Given the description of an element on the screen output the (x, y) to click on. 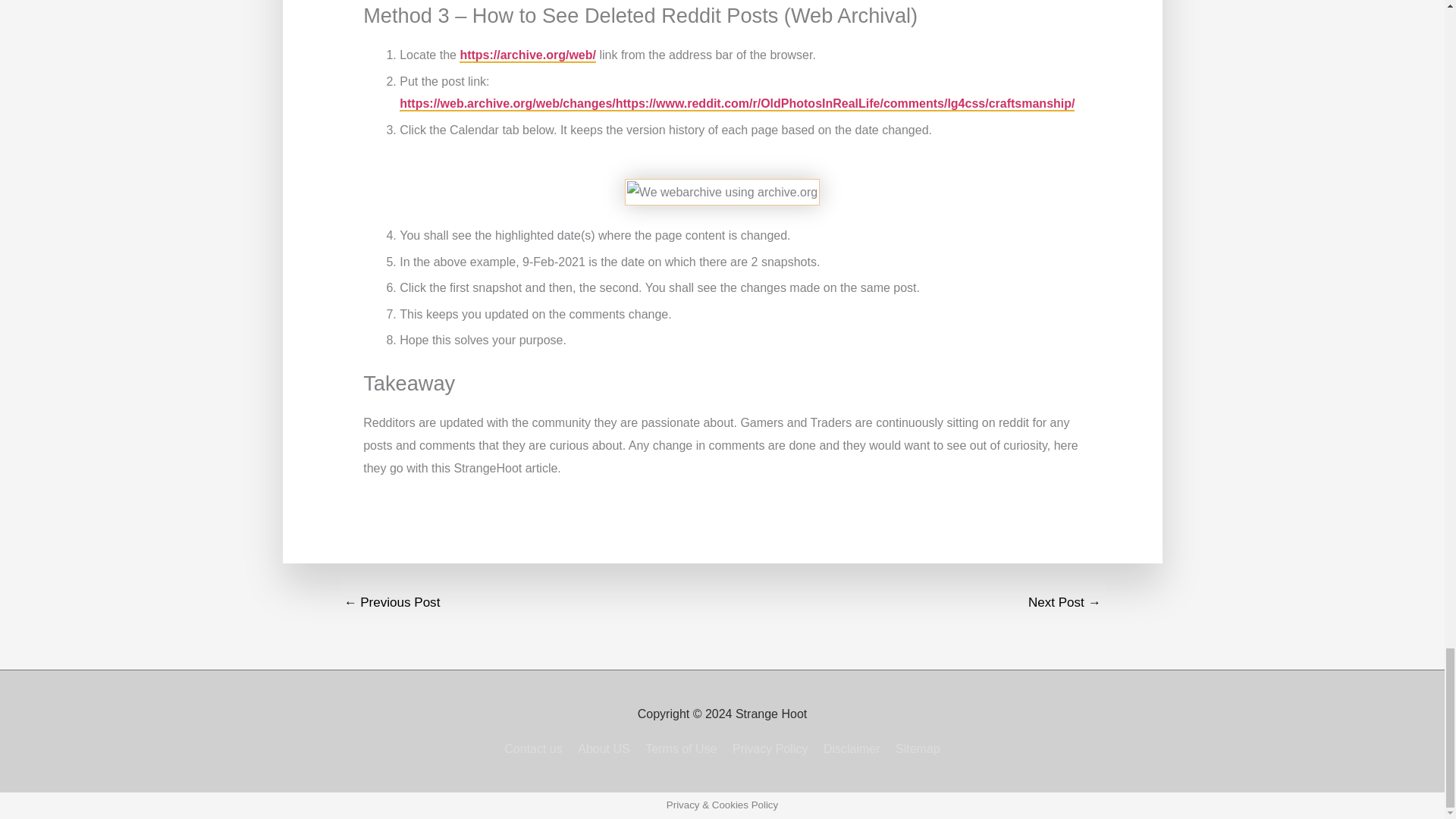
About US (603, 748)
Terms of Use (680, 748)
Privacy Policy (769, 748)
Disclaimer (851, 748)
Sitemap (914, 748)
Contact us (535, 748)
